Given the description of an element on the screen output the (x, y) to click on. 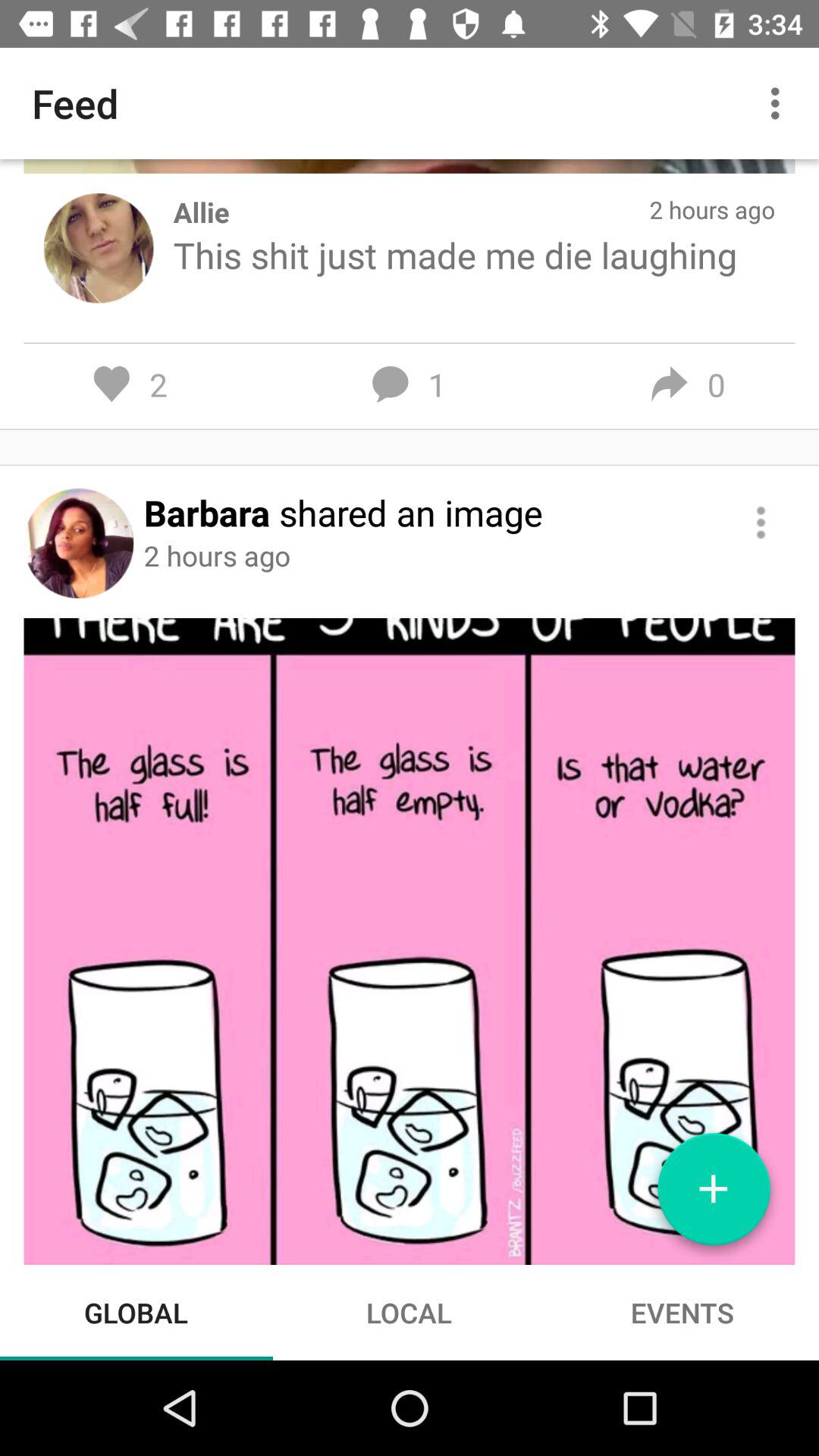
edit post options (760, 522)
